Given the description of an element on the screen output the (x, y) to click on. 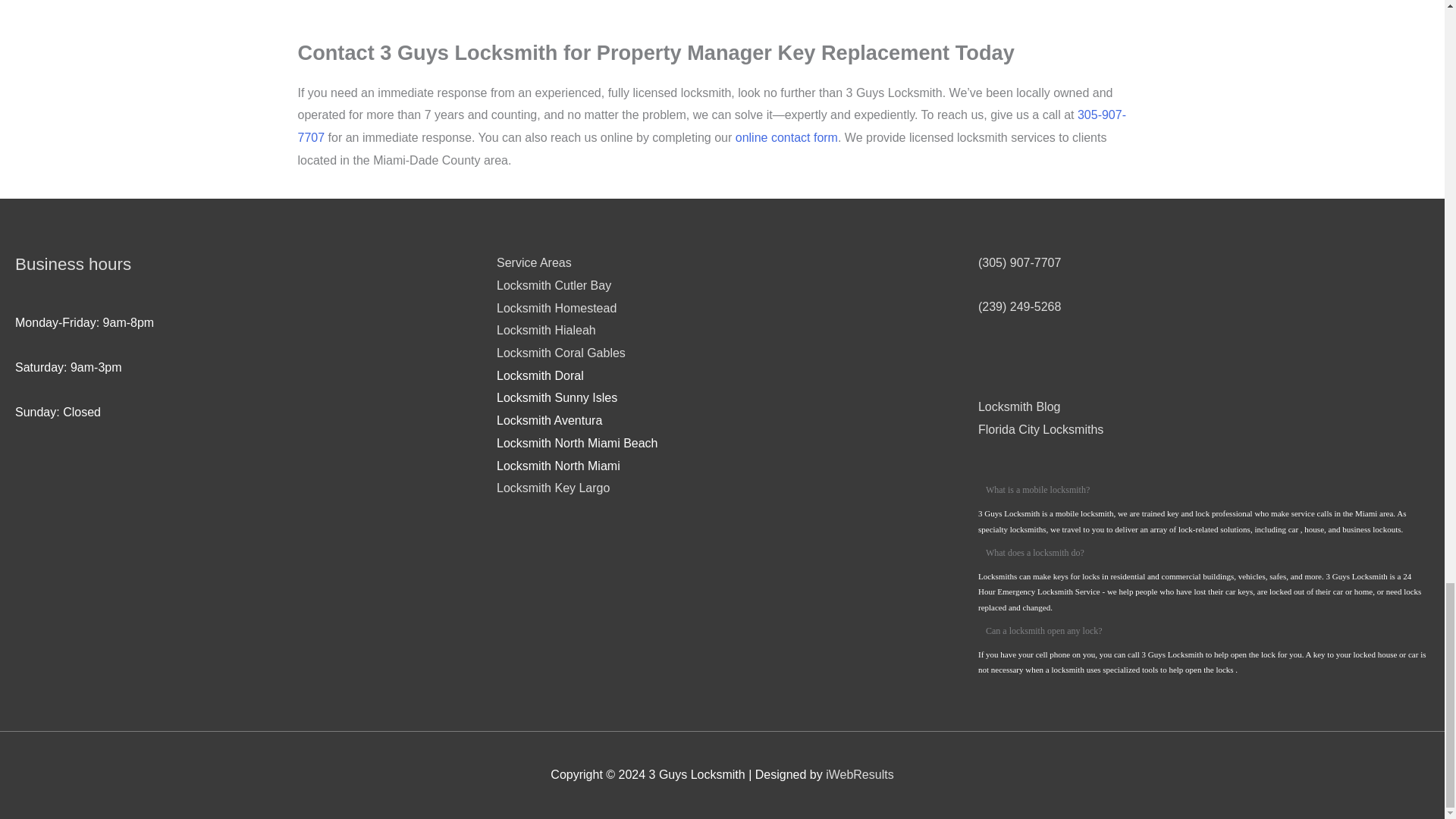
iWebResults (859, 774)
Locksmith Homestead (555, 308)
Locksmith Coral Gables (561, 352)
Locksmith Hialeah (545, 329)
online contact form (786, 137)
305-907-7707 (711, 126)
Locksmith Cutler Bay (553, 285)
Locksmith Blog (1019, 406)
Florida City Locksmiths (1040, 429)
Locksmith Key Largo (553, 487)
